Given the description of an element on the screen output the (x, y) to click on. 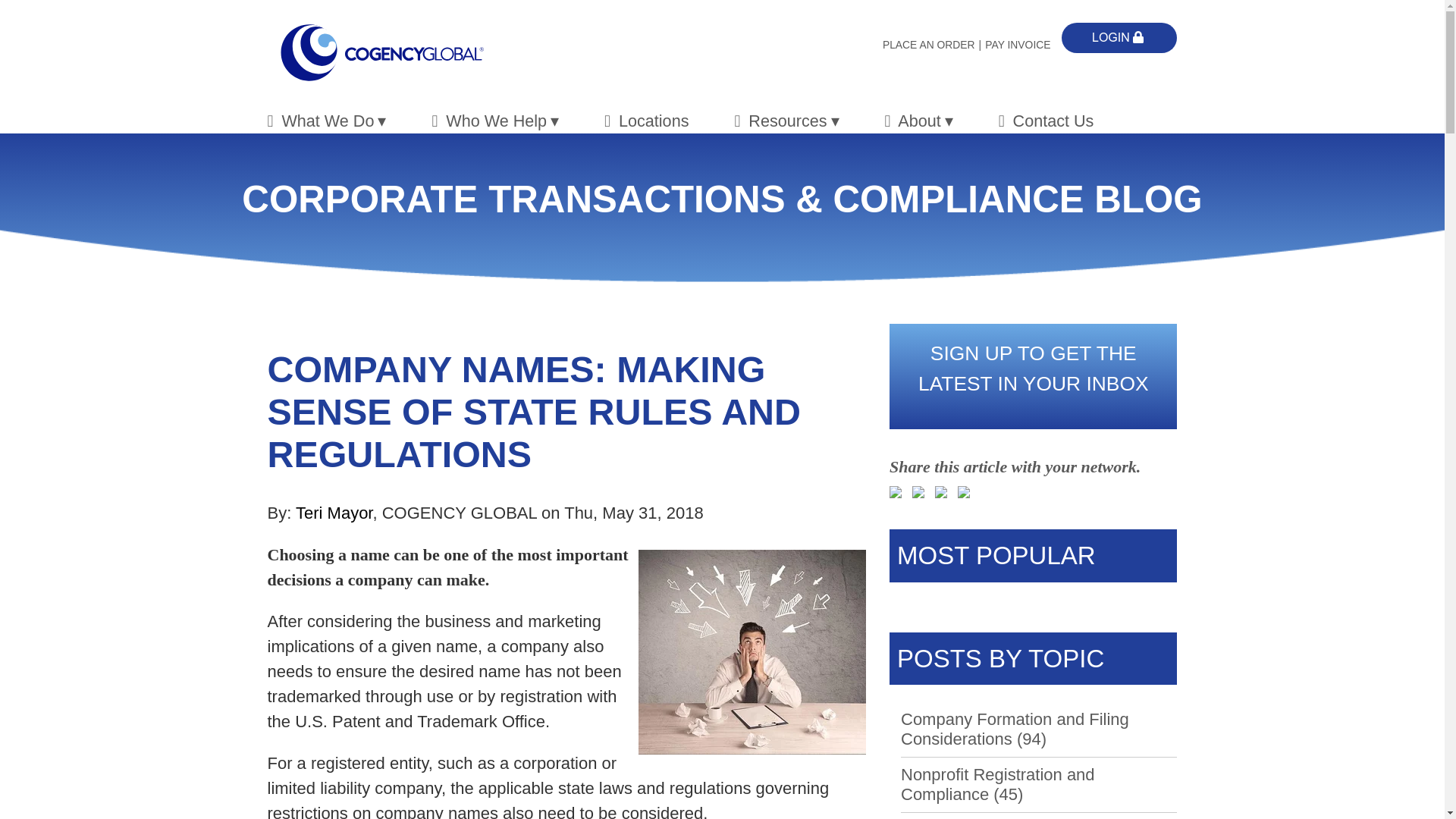
What We Do (325, 121)
Locations (646, 121)
PAY INVOICE (1019, 44)
PLACE AN ORDER (933, 44)
Resources (785, 121)
Cogency Global (380, 52)
Who We Help (494, 121)
Company Naming Rules (752, 651)
